Given the description of an element on the screen output the (x, y) to click on. 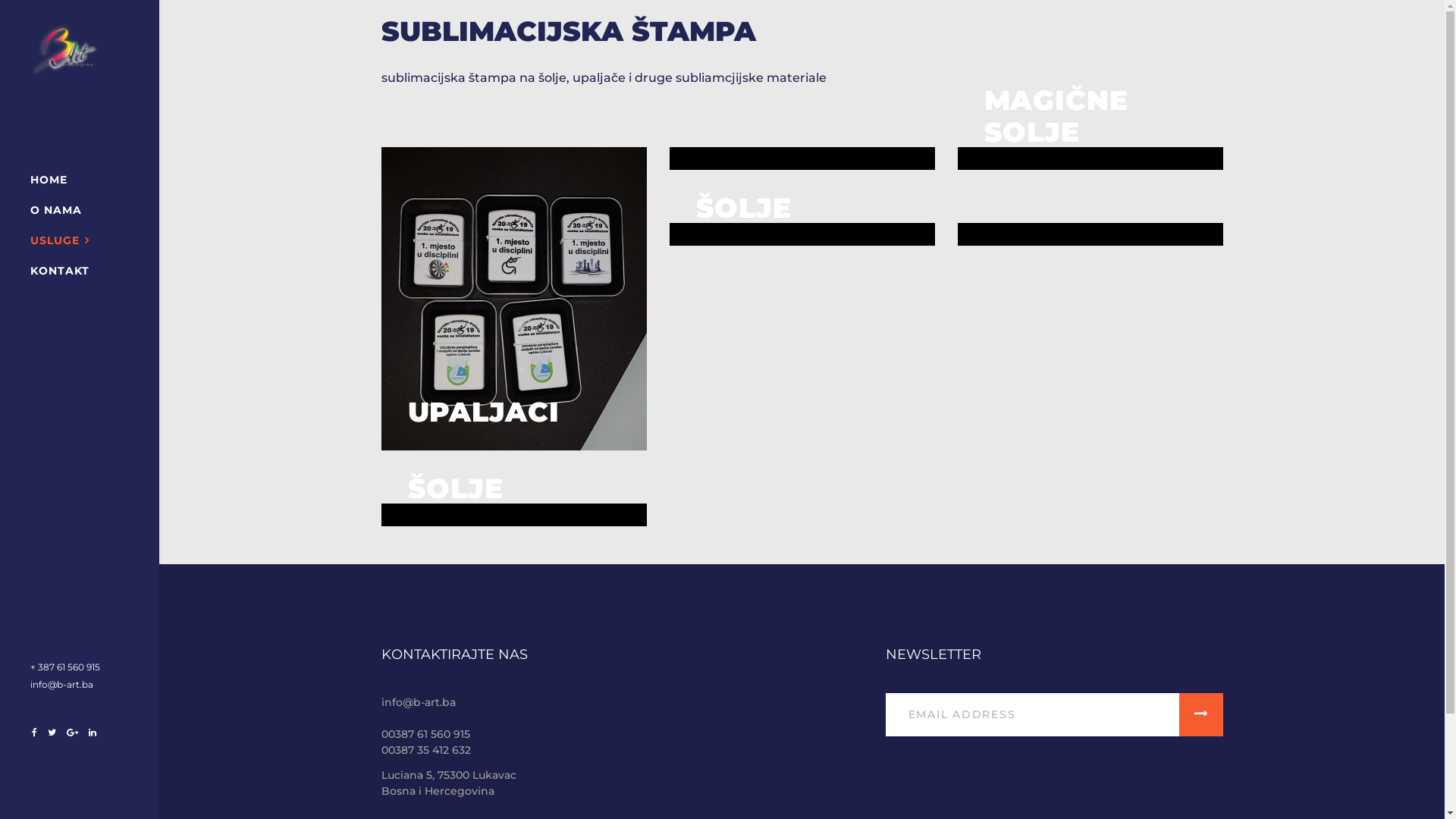
info@b-art.ba Element type: text (417, 709)
O NAMA Element type: text (55, 209)
info@b-art.ba Element type: text (61, 684)
HOME Element type: text (48, 179)
Subscribe Element type: text (1204, 713)
Email Address Element type: hover (1032, 715)
KONTAKT Element type: text (59, 270)
+ 387 61 560 915 Element type: text (65, 666)
USLUGE Element type: text (59, 240)
